Given the description of an element on the screen output the (x, y) to click on. 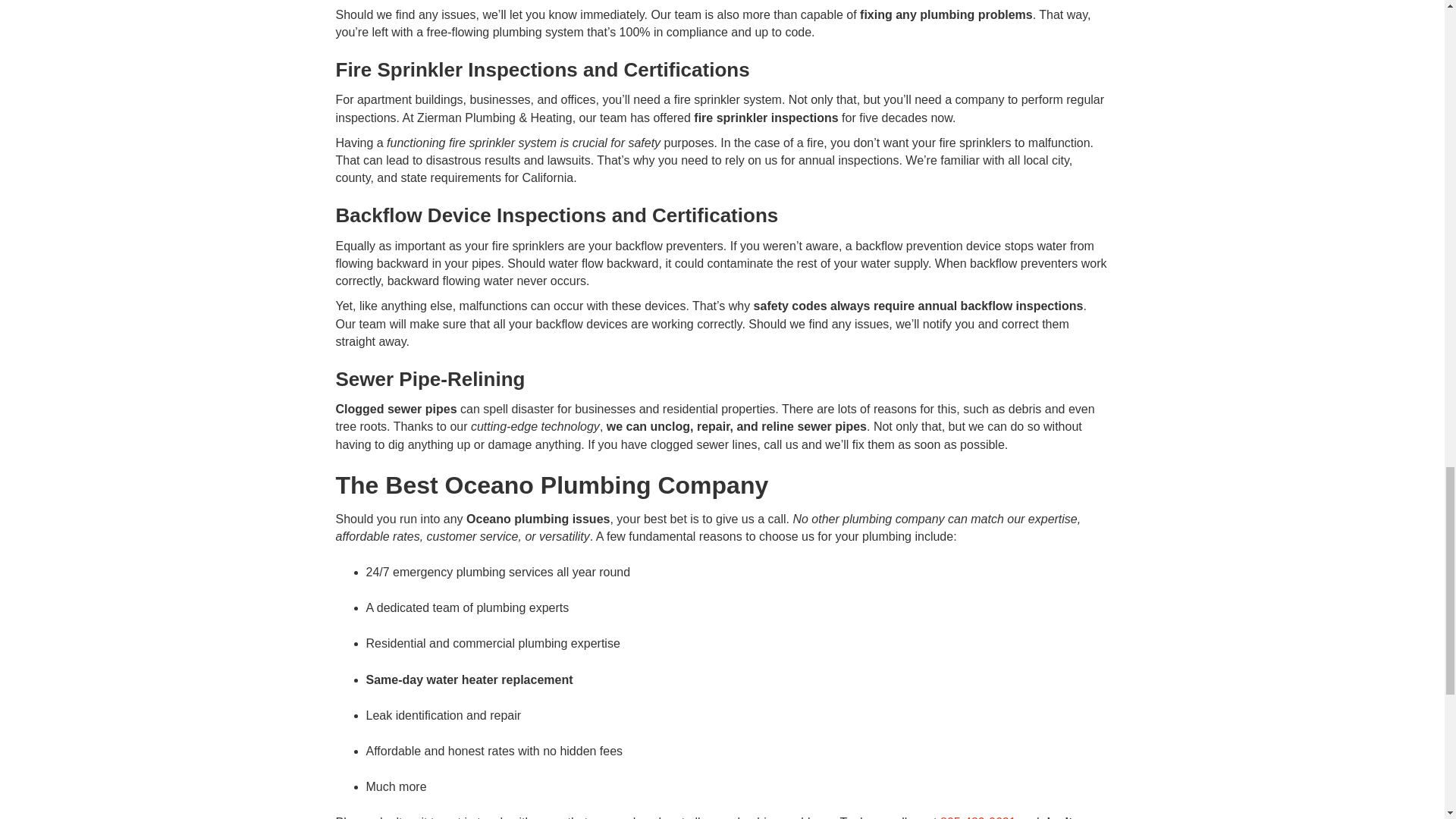
805-489-0621 (978, 817)
